Given the description of an element on the screen output the (x, y) to click on. 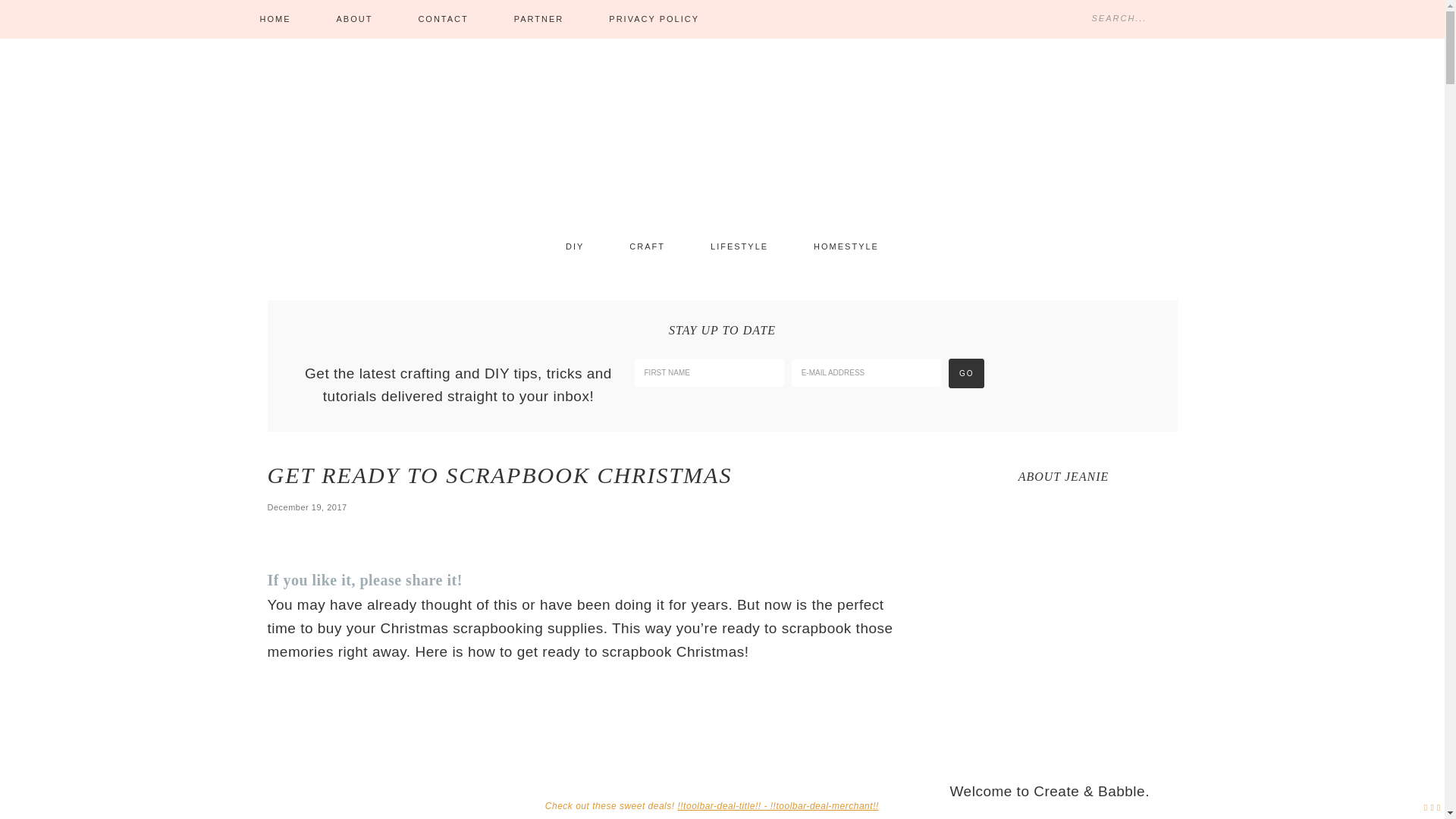
reddit (709, 583)
DIY (575, 246)
ABOUT (355, 19)
PRIVACY POLICY (654, 19)
CREATE AND BABBLE (722, 135)
linkedin (671, 583)
HOME (274, 19)
stumbleupon (595, 583)
